Given the description of an element on the screen output the (x, y) to click on. 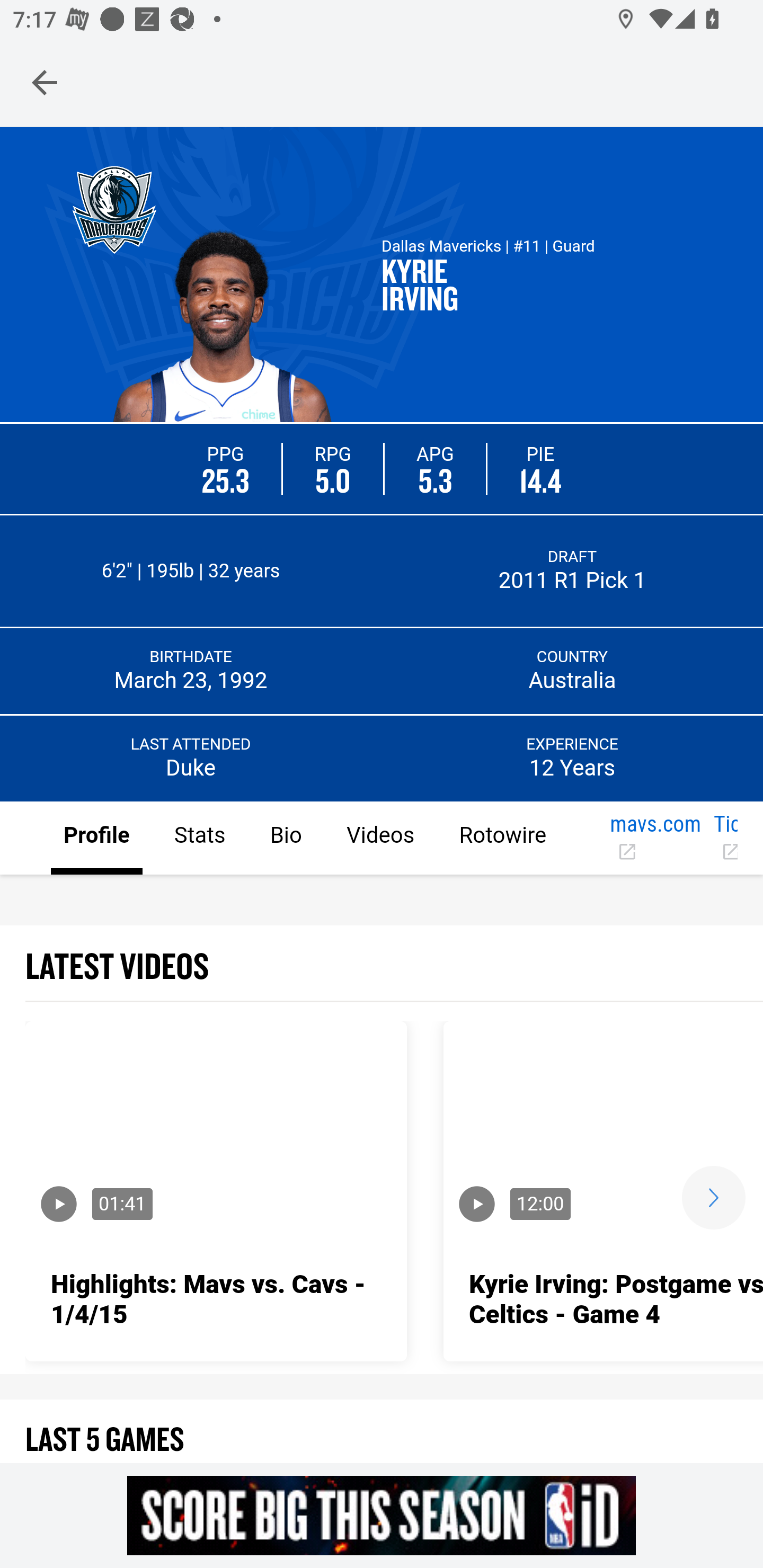
Navigate up (44, 82)
Dallas Mavericks Logo (114, 209)
Profile (97, 838)
Stats (199, 838)
Bio (284, 838)
Videos (379, 838)
Rotowire (501, 838)
mavs.com (655, 838)
Carousel Button (713, 1197)
g5nqqygr7owph (381, 1515)
